Given the description of an element on the screen output the (x, y) to click on. 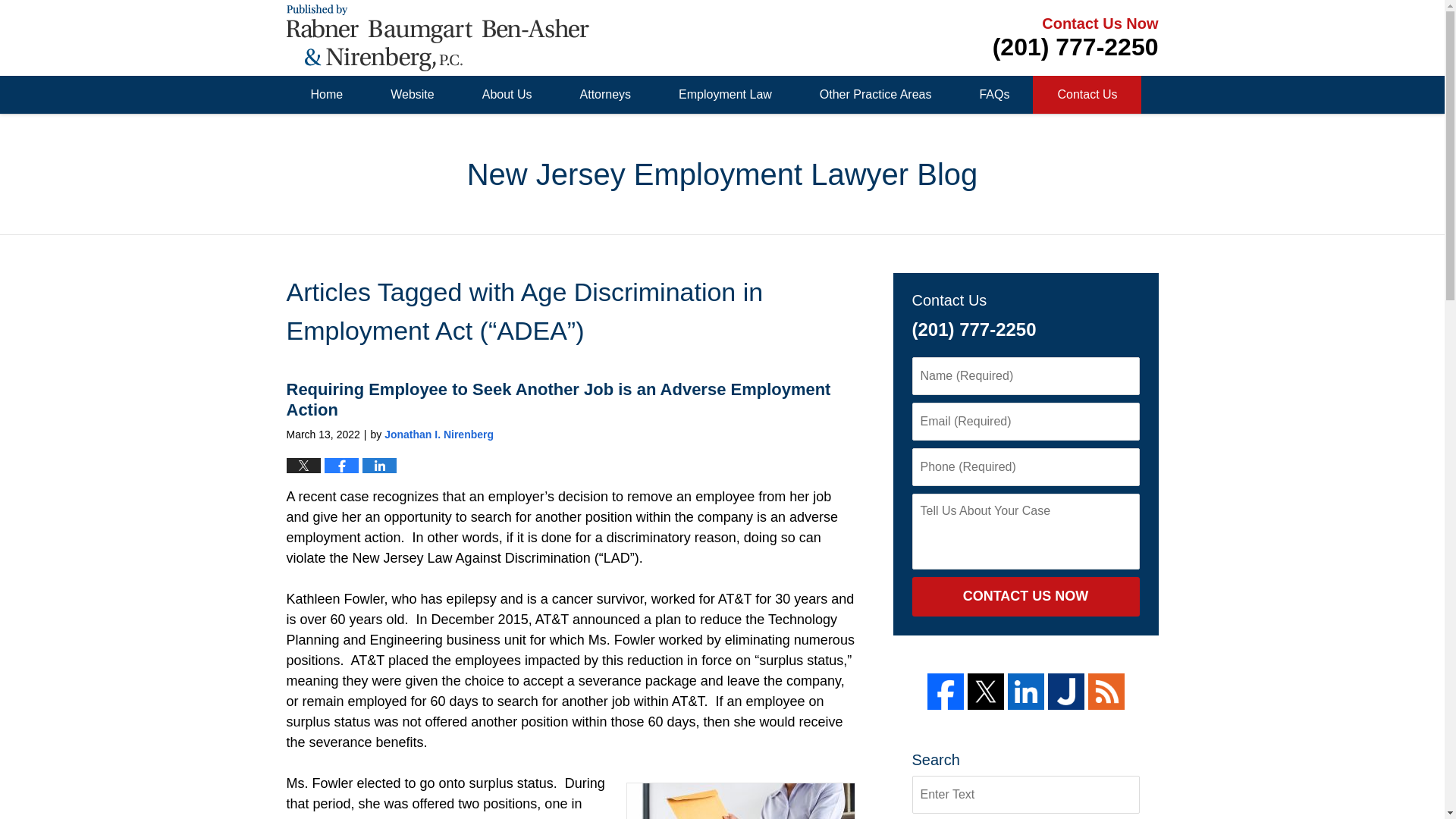
Employment Law (723, 94)
Justia (1066, 691)
Jonathan I. Nirenberg (438, 434)
Twitter (986, 691)
Please enter a valid phone number. (1024, 466)
Attorneys (605, 94)
Home (326, 94)
New Jersey Employment Lawyer Blog (437, 37)
Other Practice Areas (874, 94)
LinkedIn (1025, 691)
Contact Us (1086, 94)
FAQs (993, 94)
About Us (507, 94)
